Given the description of an element on the screen output the (x, y) to click on. 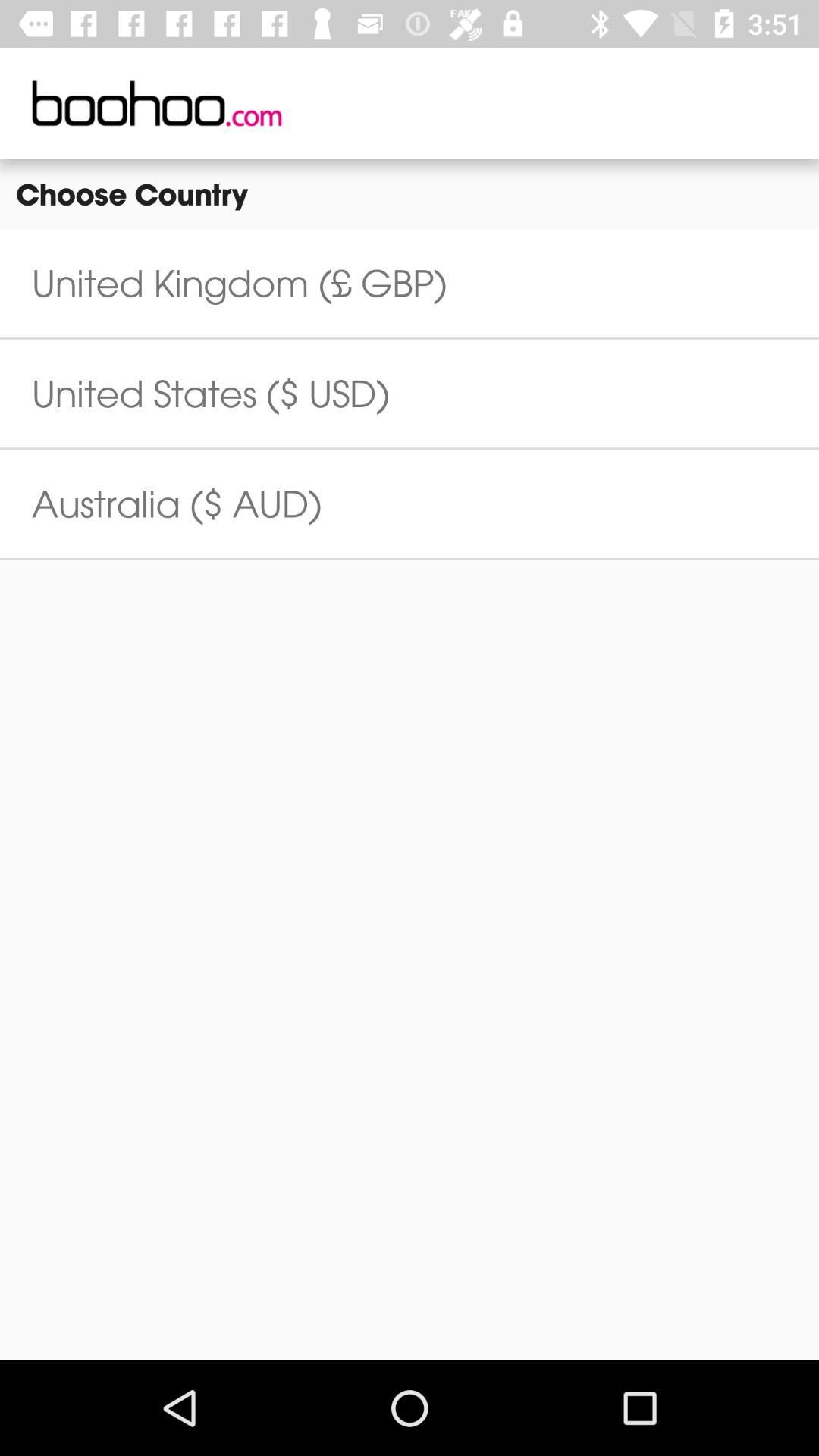
open item below united states ($ usd) icon (176, 503)
